Given the description of an element on the screen output the (x, y) to click on. 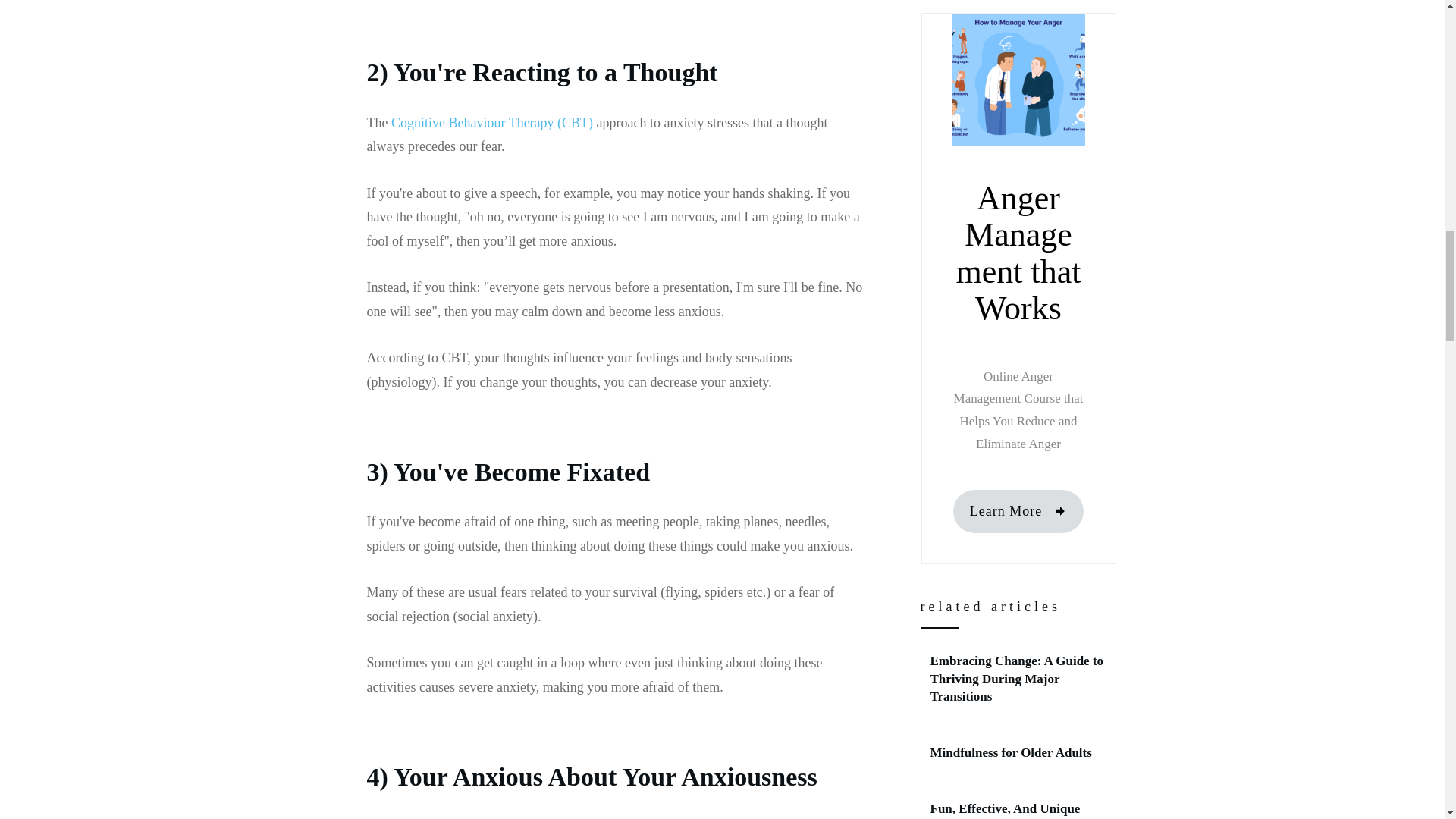
Mindfulness for Older Adults (1010, 752)
Mindfulness for Older Adults (1010, 752)
Learn More (1018, 511)
Mindfulness for Older Adults (1018, 752)
